Given the description of an element on the screen output the (x, y) to click on. 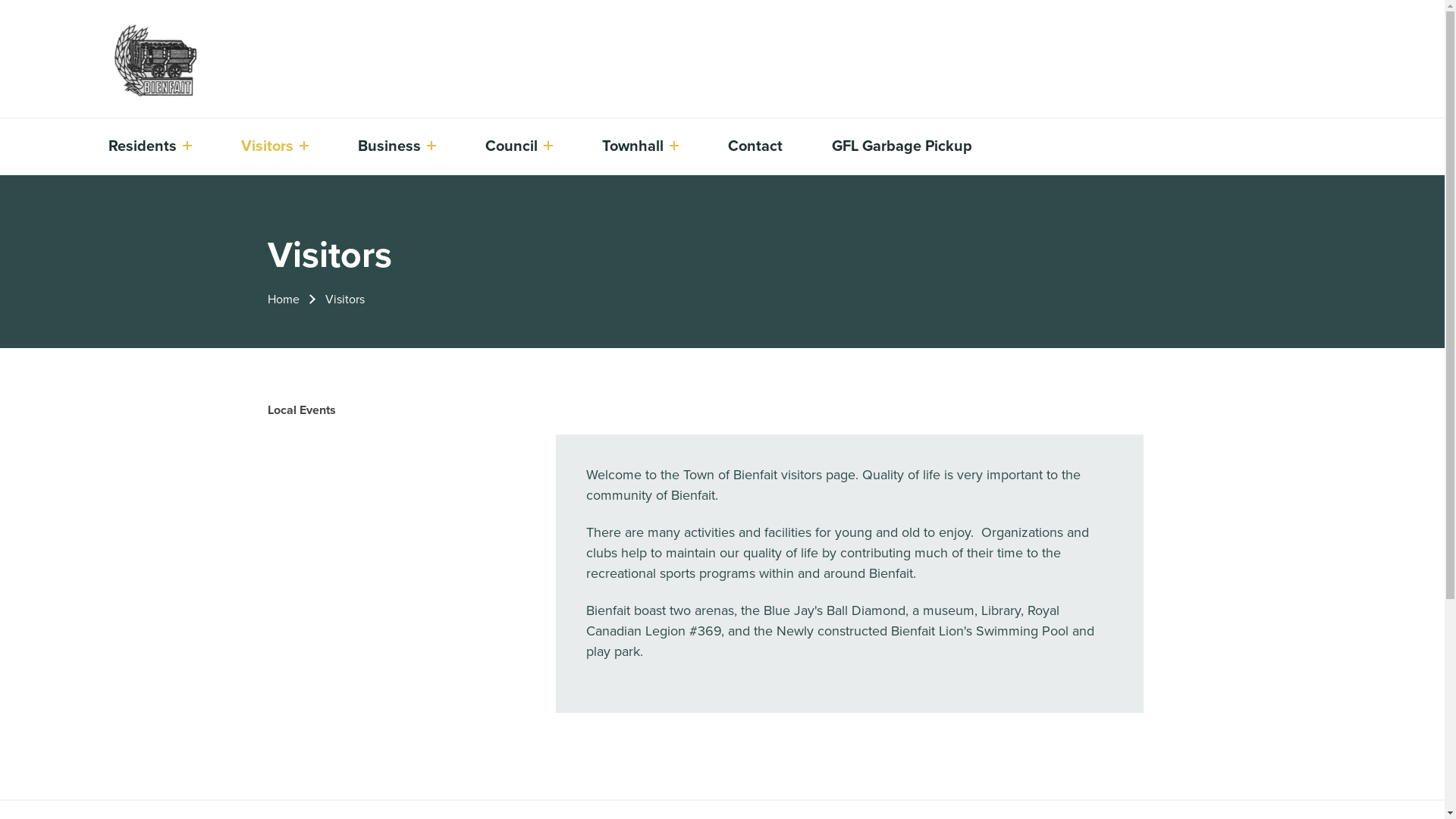
Visitors Element type: text (267, 146)
Council Element type: text (511, 146)
Business Element type: text (388, 146)
Local Events Element type: text (300, 409)
Townhall Element type: text (632, 146)
Home Element type: text (282, 299)
Contact Element type: text (755, 146)
Town of Bienfait Element type: hover (170, 59)
Residents Element type: text (142, 146)
GFL Garbage Pickup Element type: text (901, 146)
